Given the description of an element on the screen output the (x, y) to click on. 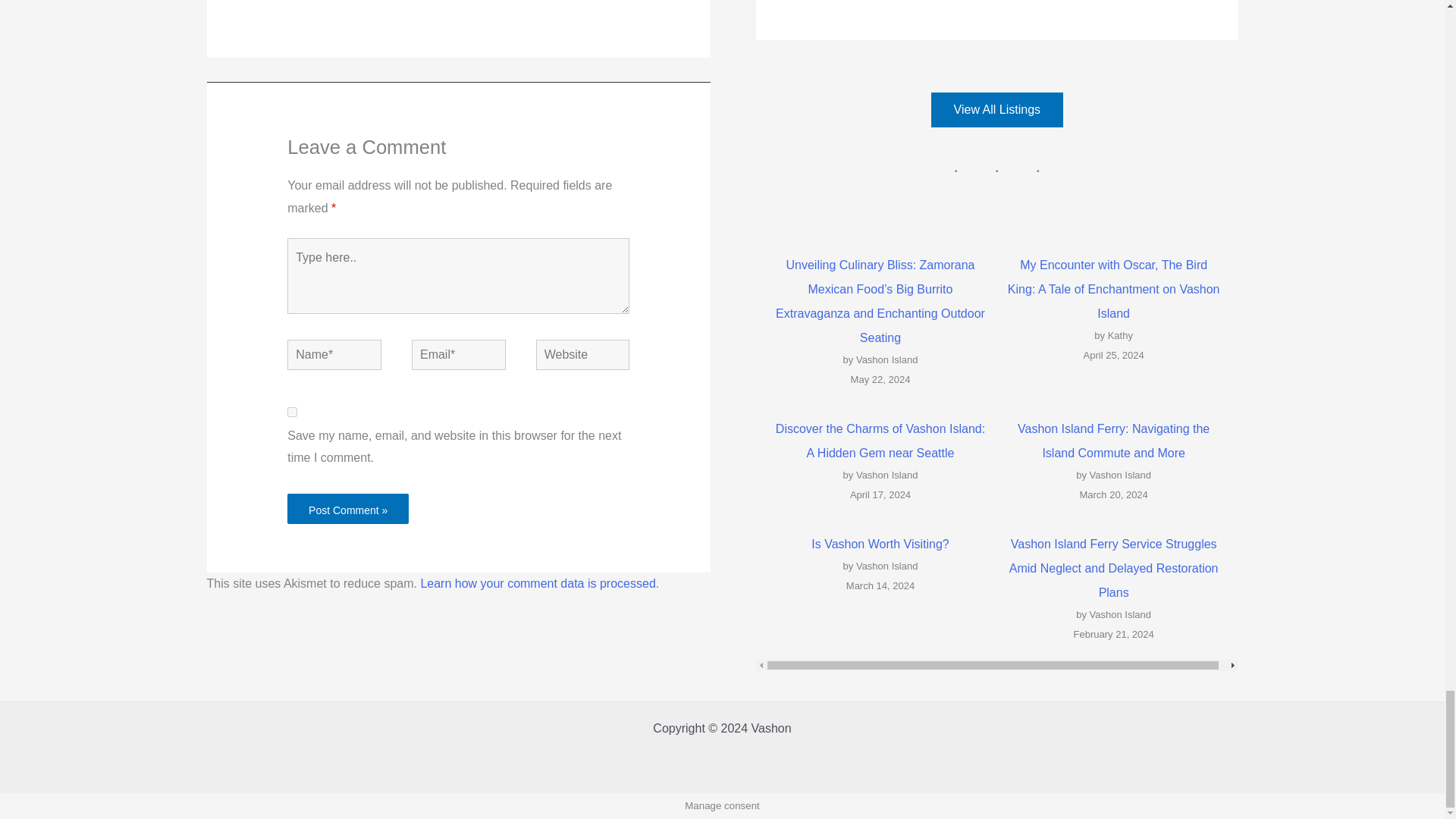
yes (291, 411)
